Given the description of an element on the screen output the (x, y) to click on. 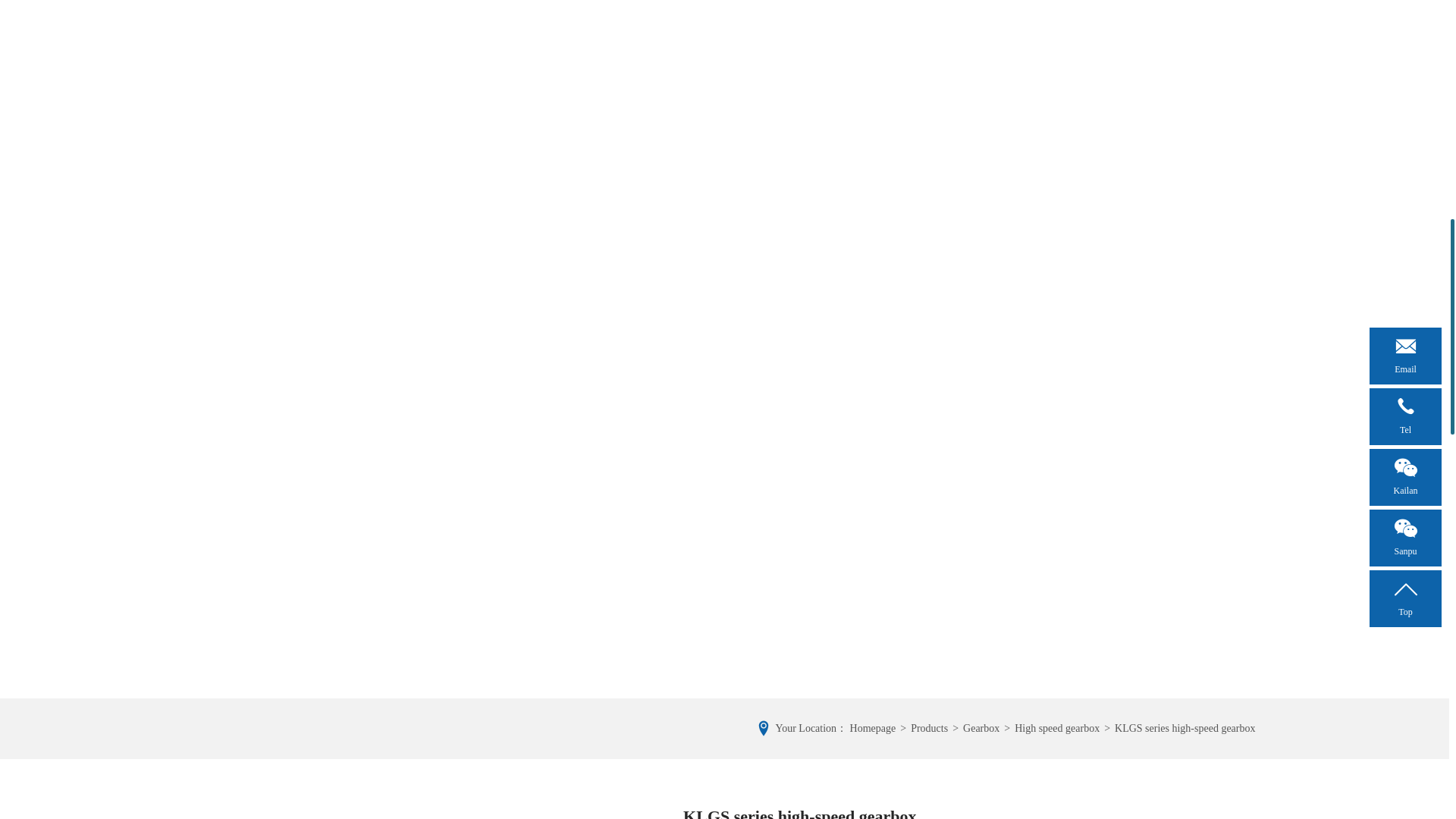
Gearbox (980, 727)
High speed gearbox (1056, 727)
Products (929, 727)
Homepage (873, 727)
